Given the description of an element on the screen output the (x, y) to click on. 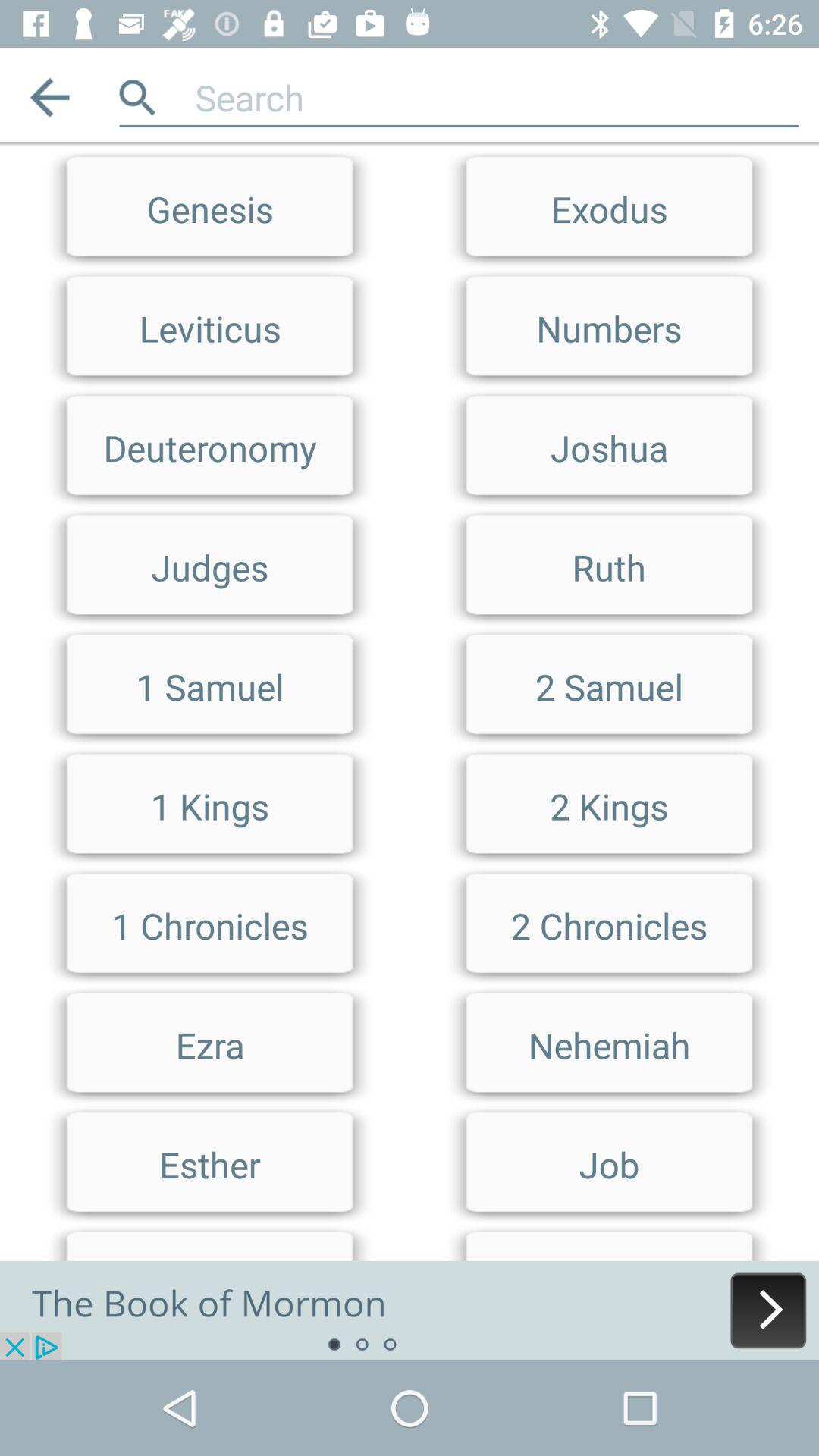
search bar (497, 97)
